Given the description of an element on the screen output the (x, y) to click on. 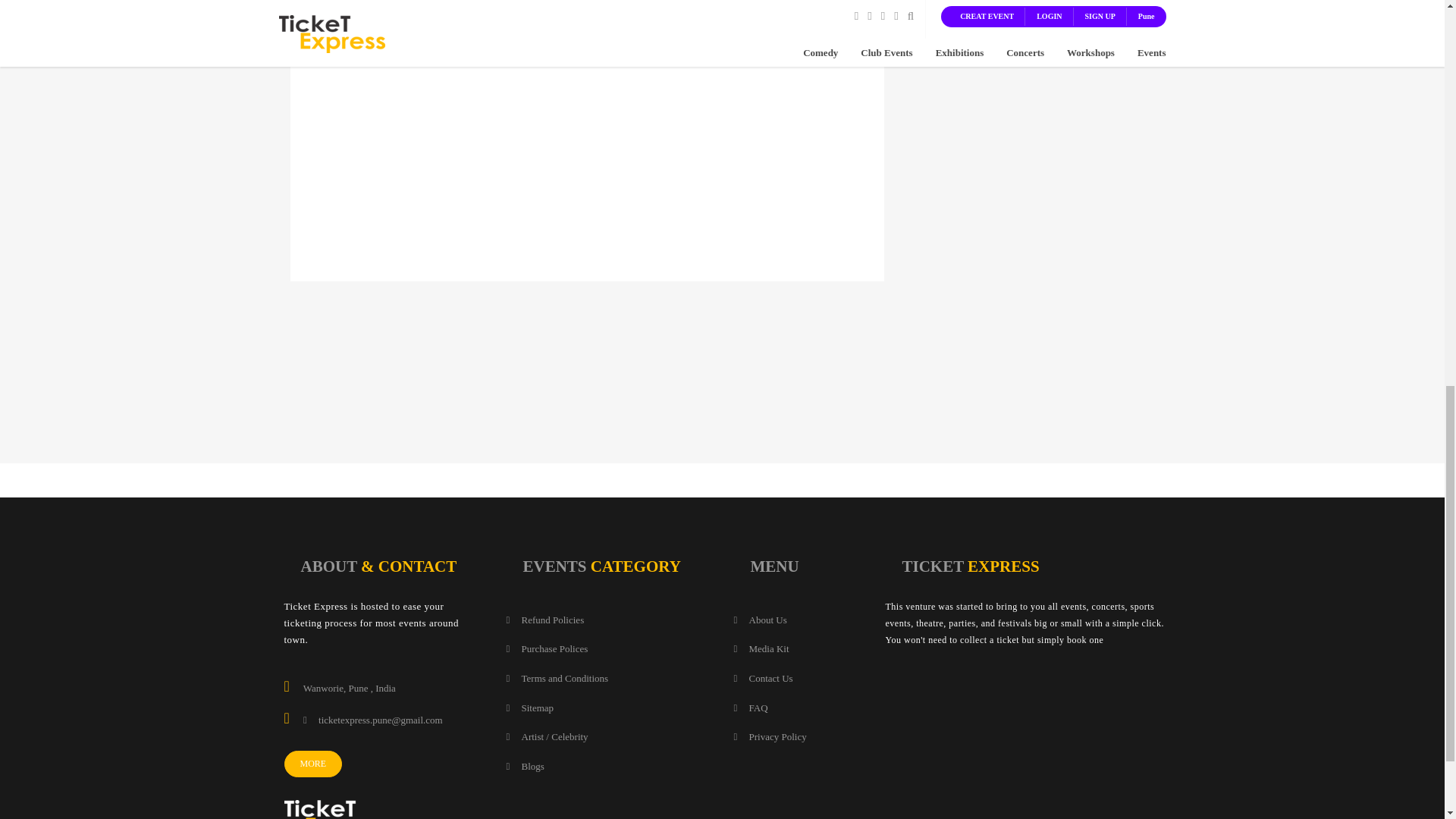
Refund Policies (545, 620)
MORE (312, 764)
